Given the description of an element on the screen output the (x, y) to click on. 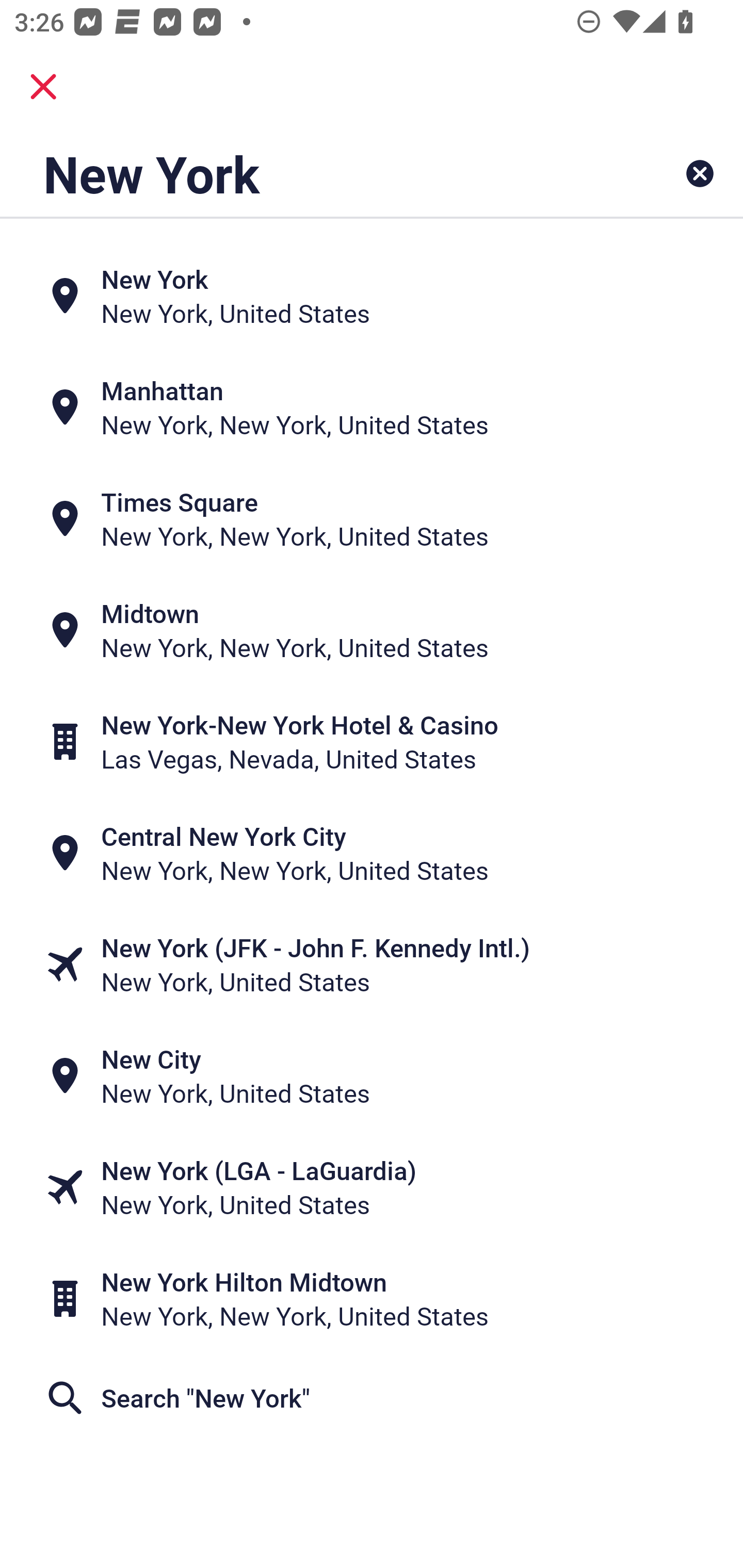
close. (43, 86)
Clear (699, 173)
New York (306, 173)
New York New York, United States (371, 295)
Manhattan New York, New York, United States (371, 406)
Times Square New York, New York, United States (371, 517)
Midtown New York, New York, United States (371, 629)
New City New York, United States (371, 1076)
New York (LGA - LaGuardia) New York, United States (371, 1187)
Search "New York" (371, 1397)
